Given the description of an element on the screen output the (x, y) to click on. 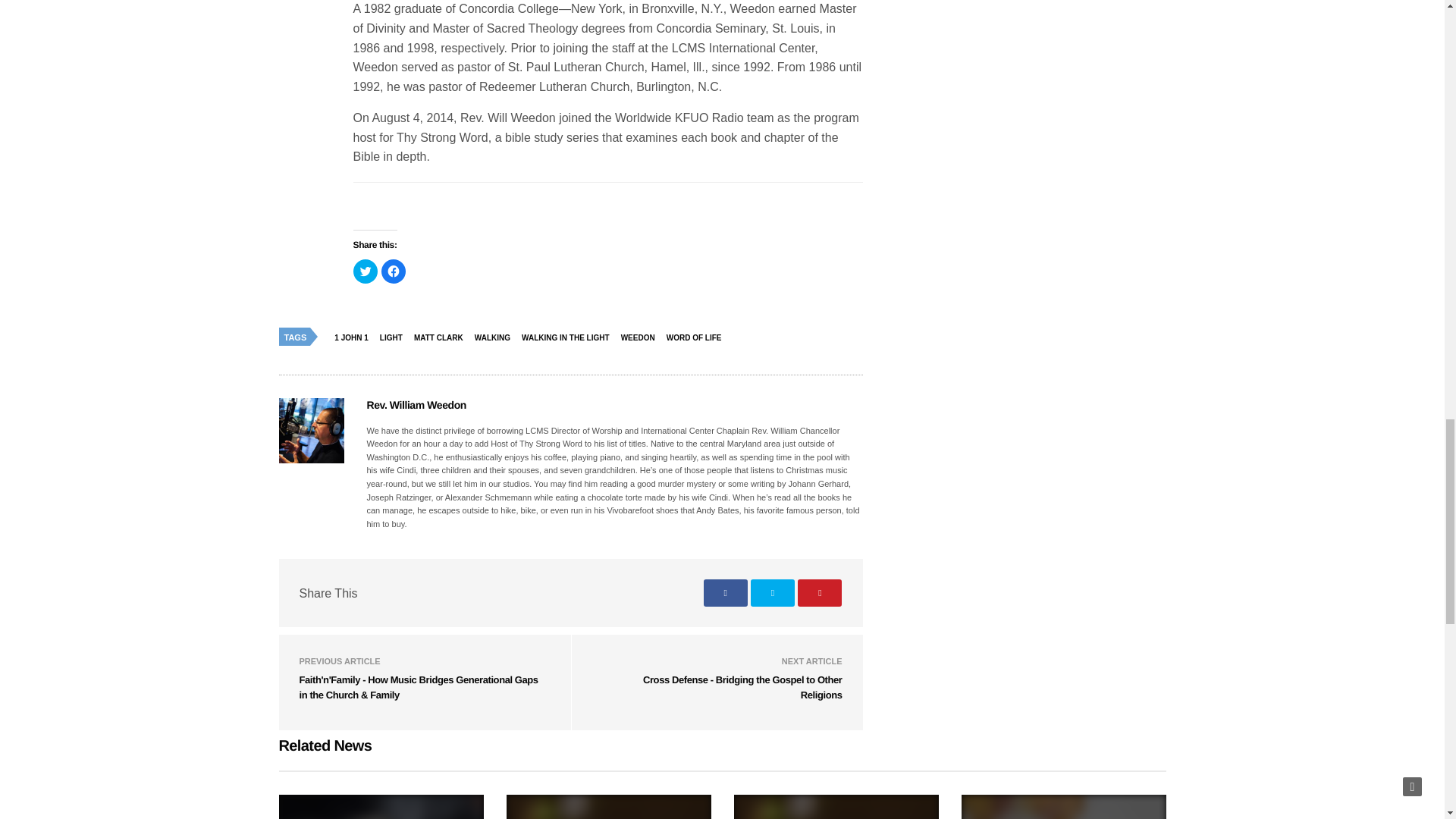
Click to share on Twitter (365, 271)
Cross Defense - Bridging the Gospel  to Other Religions (743, 687)
Click to share on Facebook (392, 271)
